Given the description of an element on the screen output the (x, y) to click on. 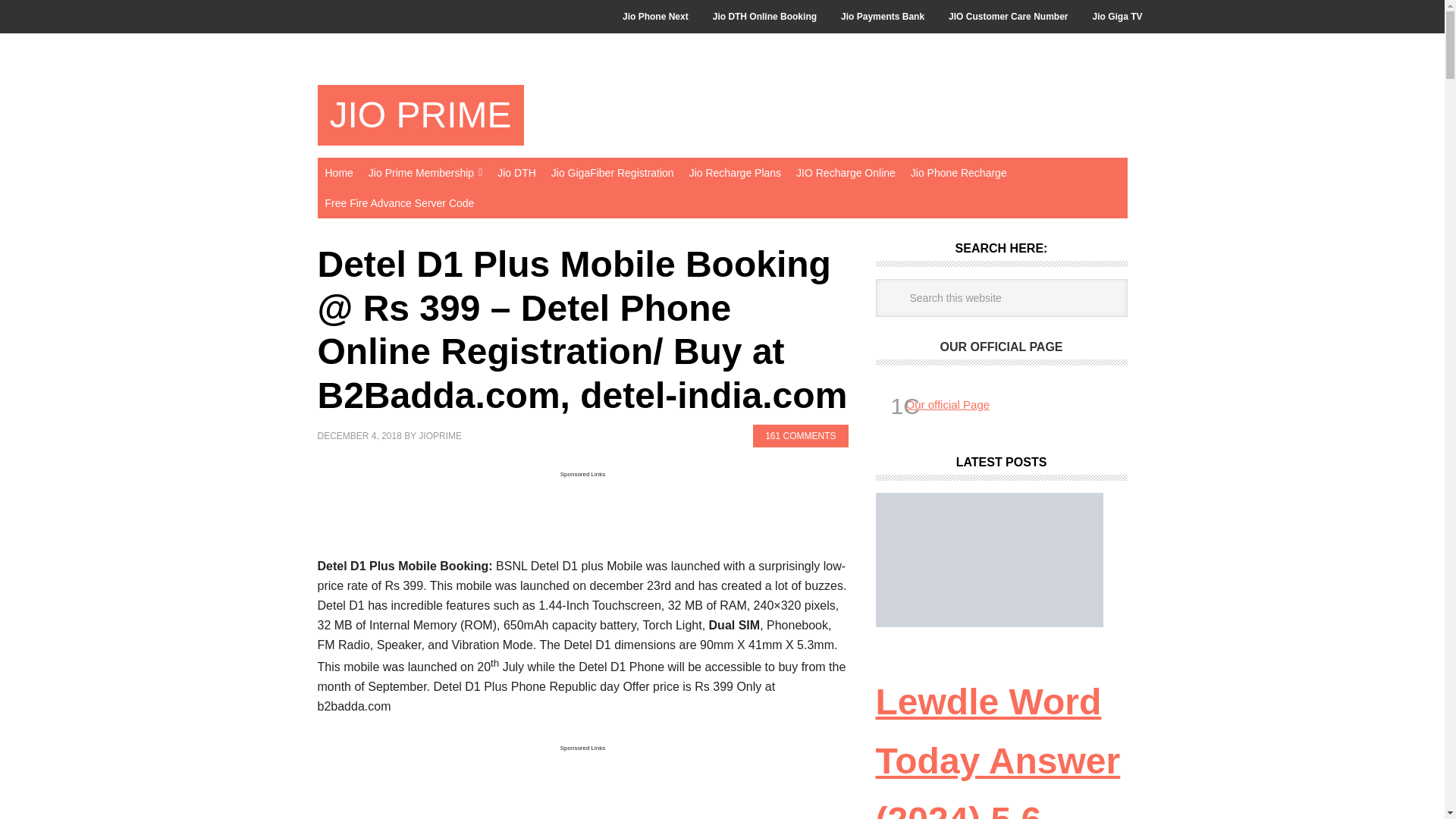
JIO Customer Care Number (1008, 16)
Jio Phone Recharge (958, 173)
Jio DTH Online Booking (764, 16)
Jio DTH (516, 173)
Home (338, 173)
Jio Prime Membership (425, 173)
Jio Phone Next (655, 16)
Free Fire Advance Server Code (399, 203)
Jio Recharge Plans (735, 173)
Jio Payments Bank (882, 16)
JIOPRIME (440, 435)
161 COMMENTS (799, 436)
Jio Giga TV (1117, 16)
